Given the description of an element on the screen output the (x, y) to click on. 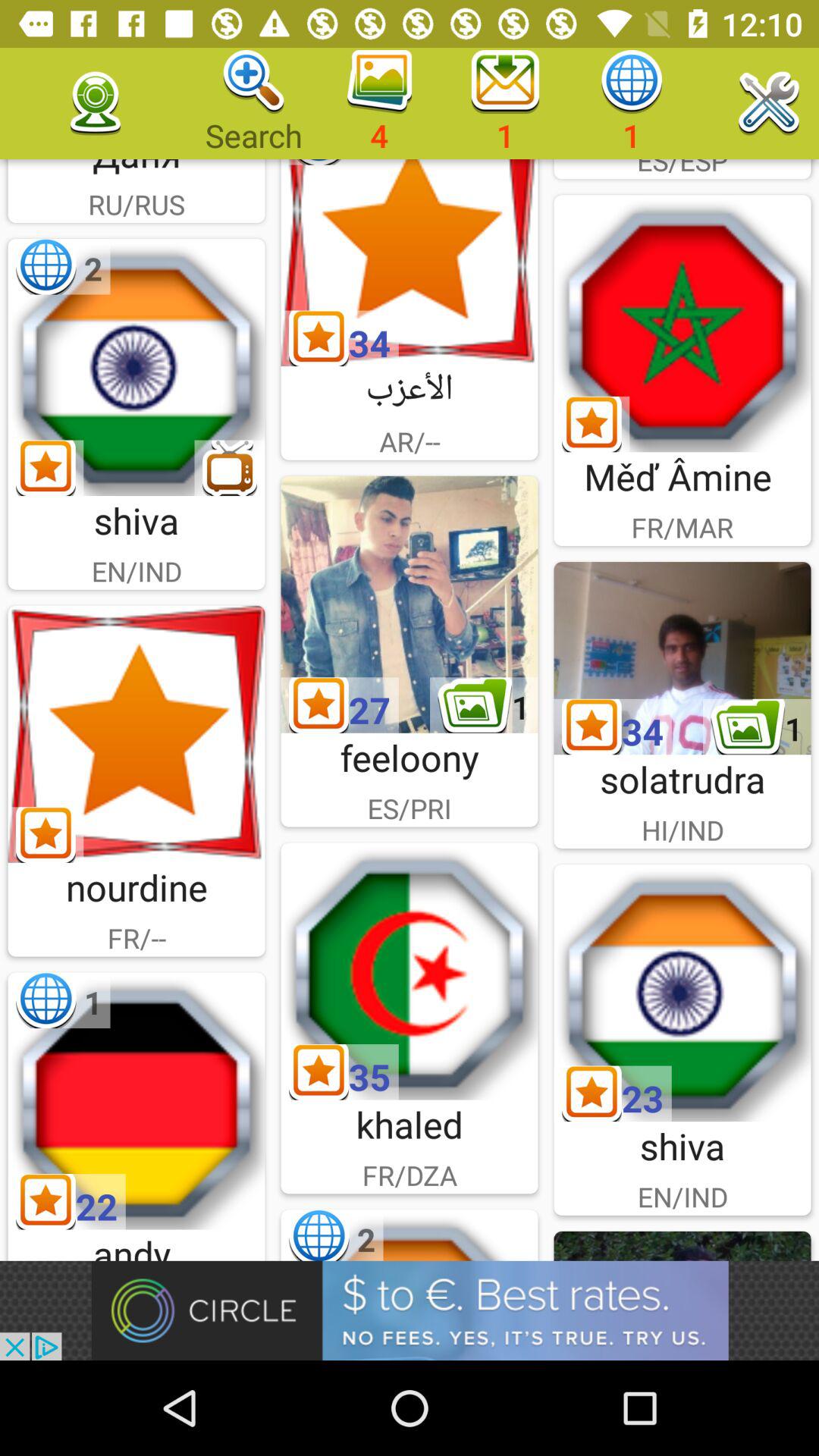
go to advertisement (409, 1310)
